Given the description of an element on the screen output the (x, y) to click on. 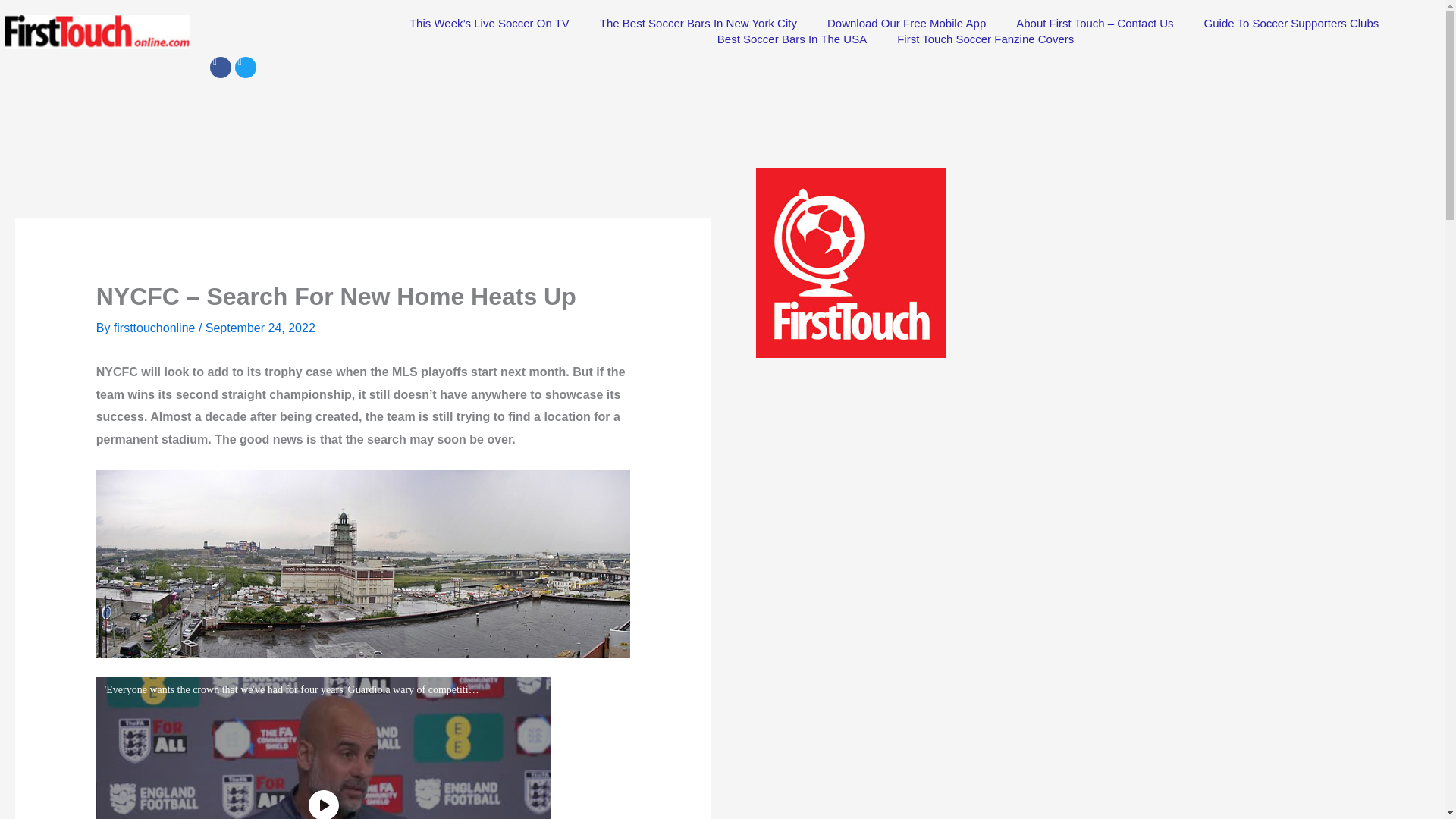
firsttouchonline (155, 327)
Facebook (219, 66)
View all posts by firsttouchonline (155, 327)
First Touch Soccer Fanzine Covers (985, 38)
The Best Soccer Bars In New York City (698, 23)
Best Soccer Bars In The USA (791, 38)
Download Our Free Mobile App (905, 23)
Twitter (245, 66)
Guide To Soccer Supporters Clubs (1292, 23)
